Given the description of an element on the screen output the (x, y) to click on. 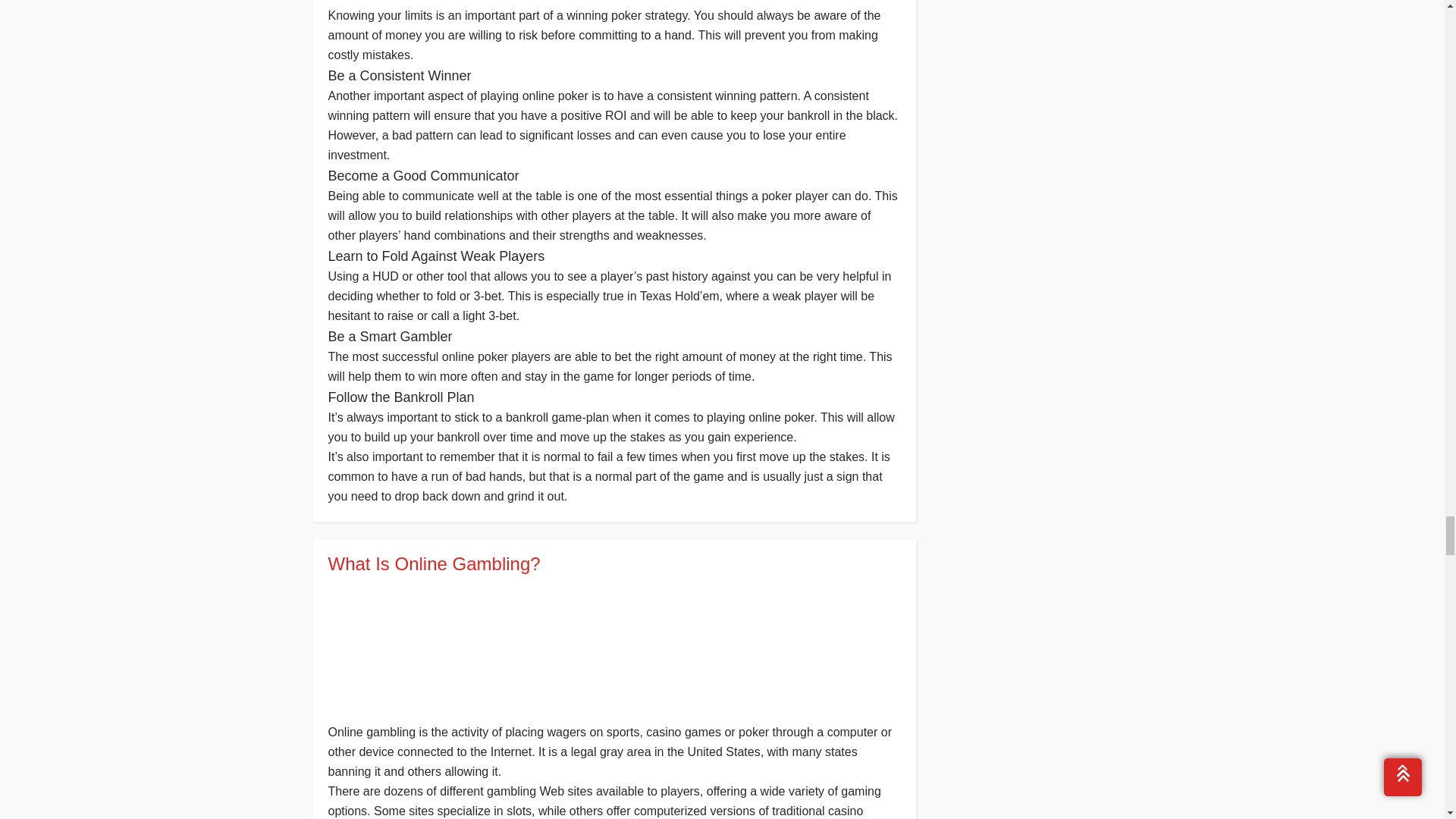
What Is Online Gambling? (613, 564)
